Given the description of an element on the screen output the (x, y) to click on. 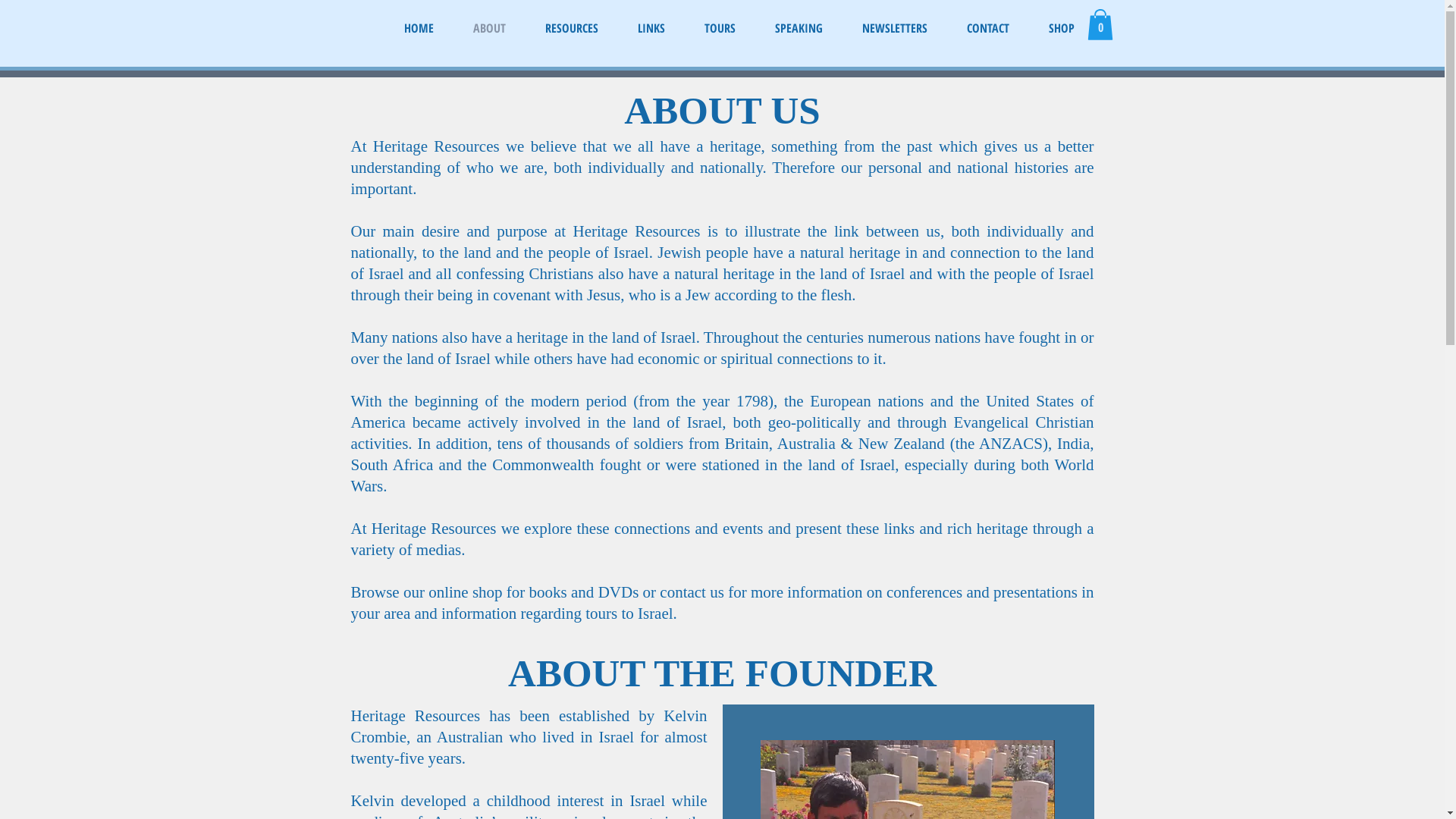
TOURS Element type: text (719, 24)
SPEAKING Element type: text (798, 24)
SHOP Element type: text (1060, 24)
ABOUT Element type: text (489, 24)
NEWSLETTERS Element type: text (893, 24)
RESOURCES Element type: text (570, 24)
LINKS Element type: text (650, 24)
0 Element type: text (1100, 24)
HOME Element type: text (417, 24)
CONTACT Element type: text (987, 24)
